Given the description of an element on the screen output the (x, y) to click on. 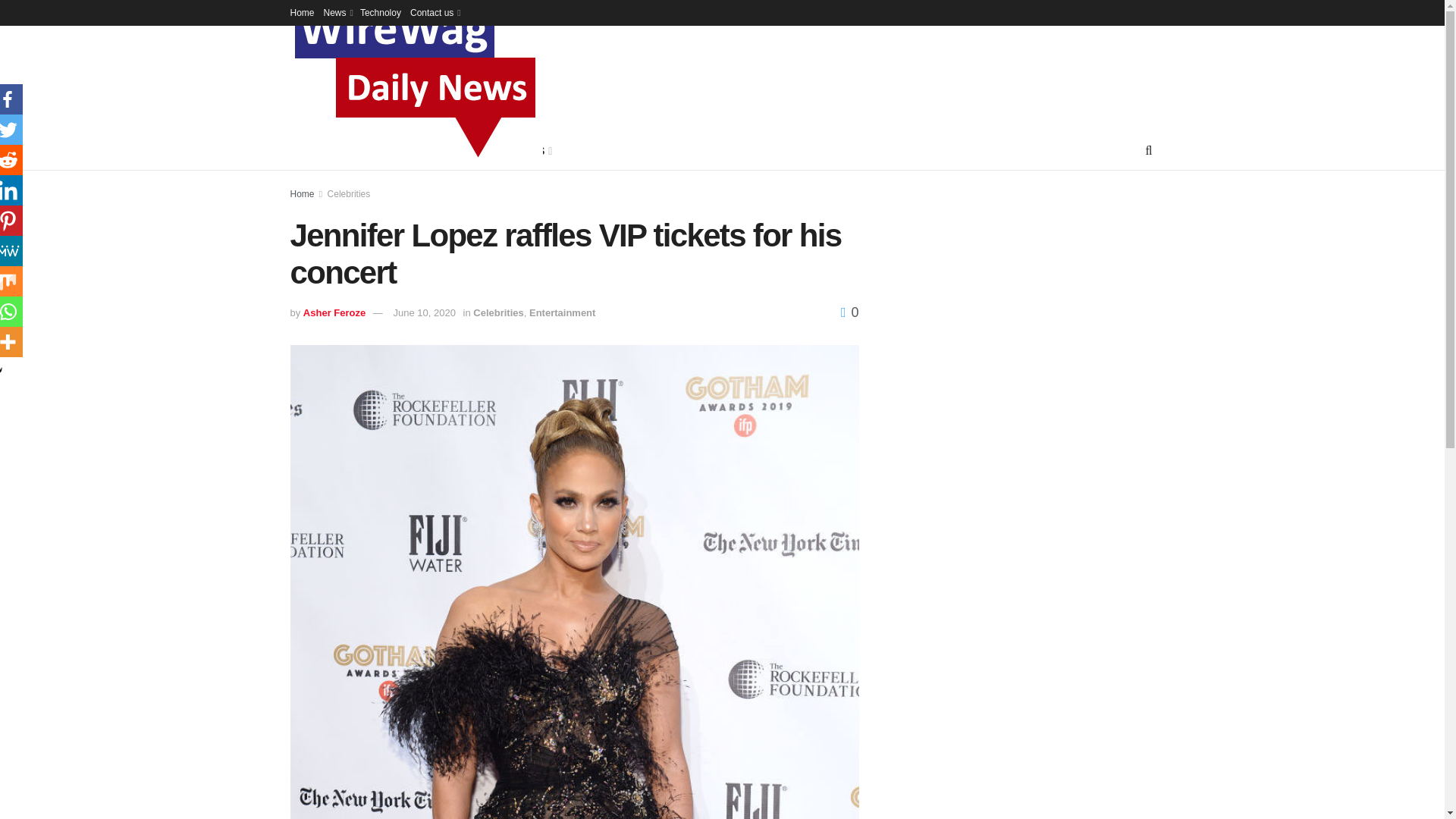
NEWS (356, 150)
News (336, 12)
HOME (305, 150)
Facebook (11, 99)
Twitter (11, 129)
TECHNOLOY (426, 150)
Technoloy (380, 12)
Reddit (11, 159)
Home (301, 12)
Contact us (434, 12)
CONTACT US (513, 150)
